Given the description of an element on the screen output the (x, y) to click on. 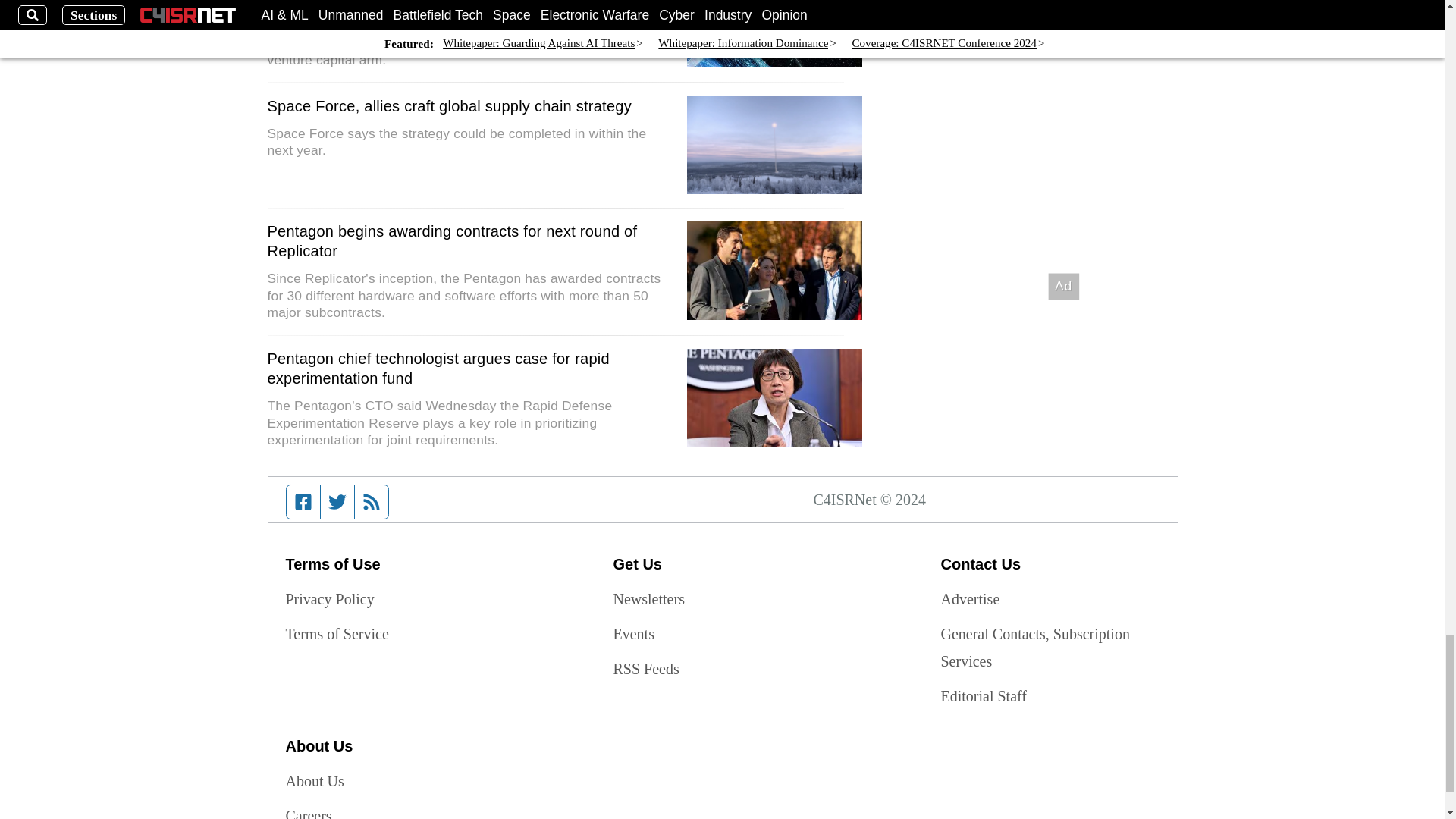
RSS feed (371, 501)
Facebook page (303, 501)
Twitter feed (336, 501)
